Given the description of an element on the screen output the (x, y) to click on. 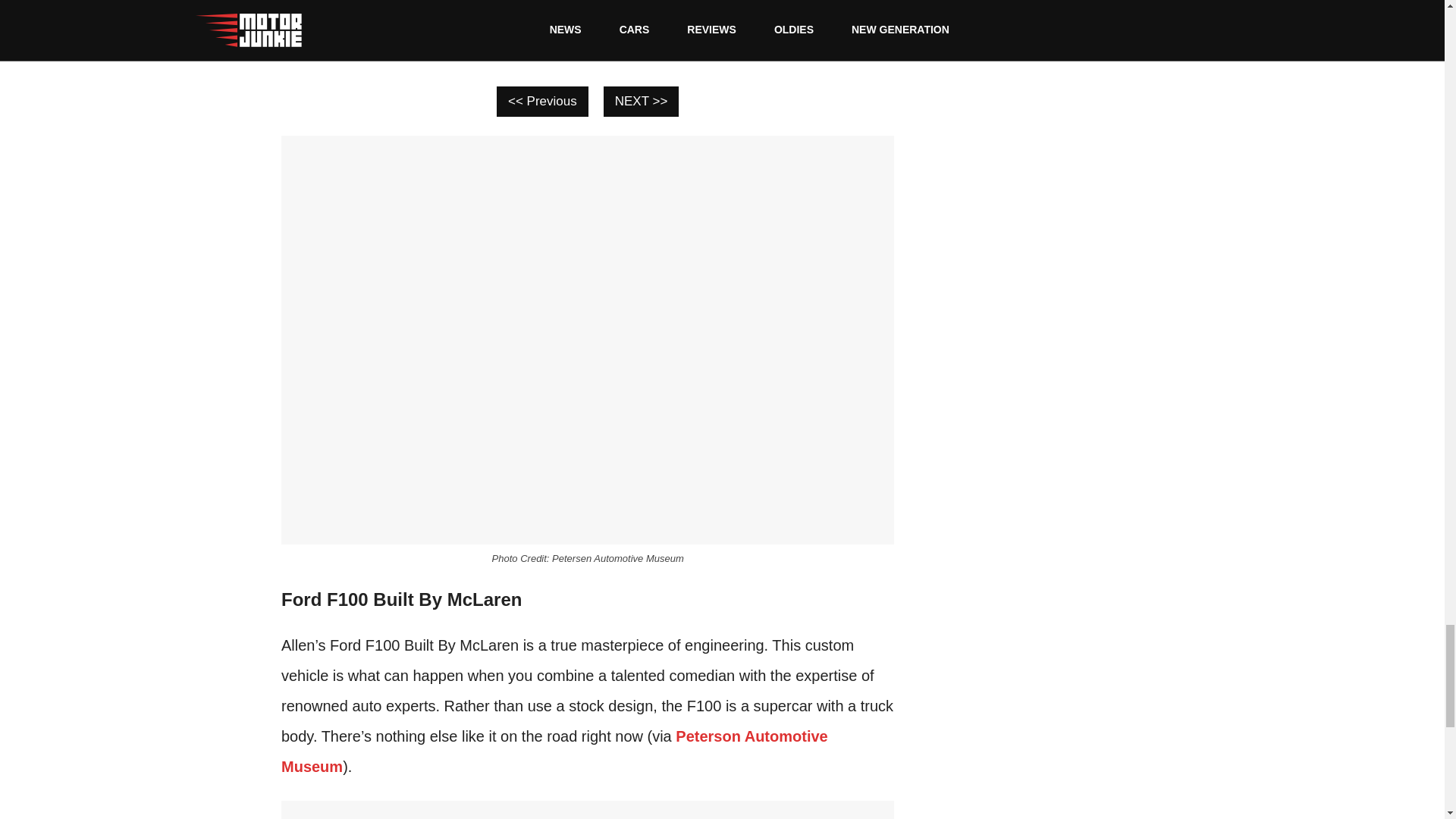
Peterson Automotive Museum (554, 751)
